Given the description of an element on the screen output the (x, y) to click on. 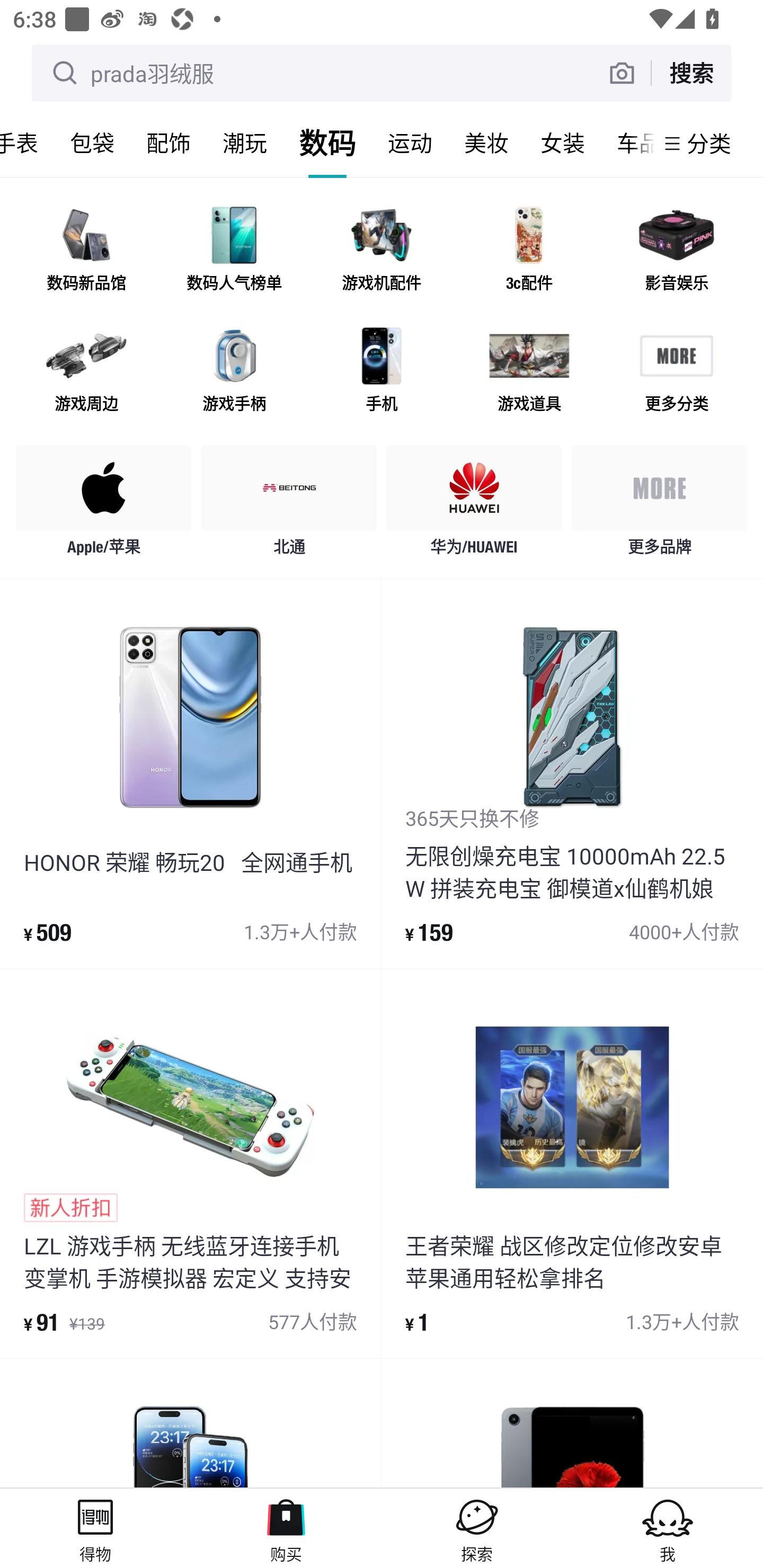
搜索 (690, 72)
手表 (27, 143)
包袋 (92, 143)
配饰 (168, 143)
潮玩 (244, 143)
数码 (327, 143)
运动 (410, 143)
美妆 (486, 143)
女装 (562, 143)
车品 (627, 143)
分类 (708, 143)
数码新品馆 (86, 251)
数码人气榜单 (233, 251)
游戏机配件 (381, 251)
3c配件 (528, 251)
影音娱乐 (676, 251)
游戏周边 (86, 372)
游戏手柄 (233, 372)
手机 (381, 372)
游戏道具 (528, 372)
更多分类 (676, 372)
Apple/苹果 (103, 505)
北通 (288, 505)
华为/HUAWEI (473, 505)
更多品牌 (658, 505)
product_item HONOR 荣耀 畅玩20   全网通手机 ¥ 509 1.3万+人付款 (190, 773)
得物 (95, 1528)
购买 (285, 1528)
探索 (476, 1528)
我 (667, 1528)
